Given the description of an element on the screen output the (x, y) to click on. 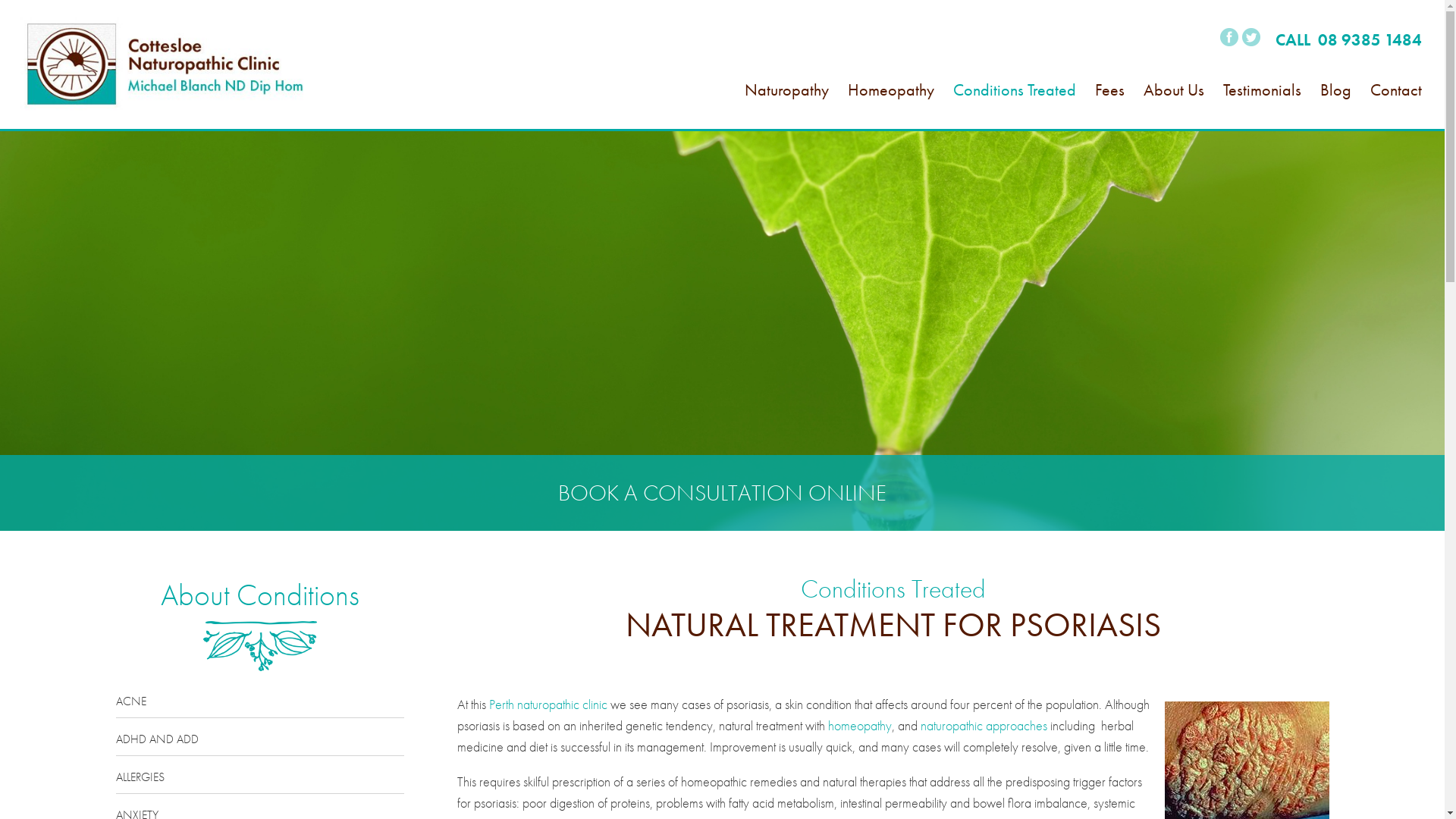
ACNE Element type: text (259, 705)
ALLERGIES Element type: text (259, 780)
Conditions Treated Element type: text (1014, 106)
Testimonials Element type: text (1262, 106)
BOOK A CONSULTATION ONLINE Element type: text (722, 492)
Blog Element type: text (1335, 106)
08 9385 1484 Element type: text (1369, 39)
Perth naturopathic clinic Element type: text (547, 703)
homeopathy Element type: text (859, 725)
About Us Element type: text (1173, 106)
naturopathic approaches Element type: text (983, 725)
Contact Element type: text (1395, 106)
Naturopathy Element type: text (786, 106)
ADHD AND ADD Element type: text (259, 743)
Homeopathy Element type: text (890, 106)
Fees Element type: text (1109, 106)
